Given the description of an element on the screen output the (x, y) to click on. 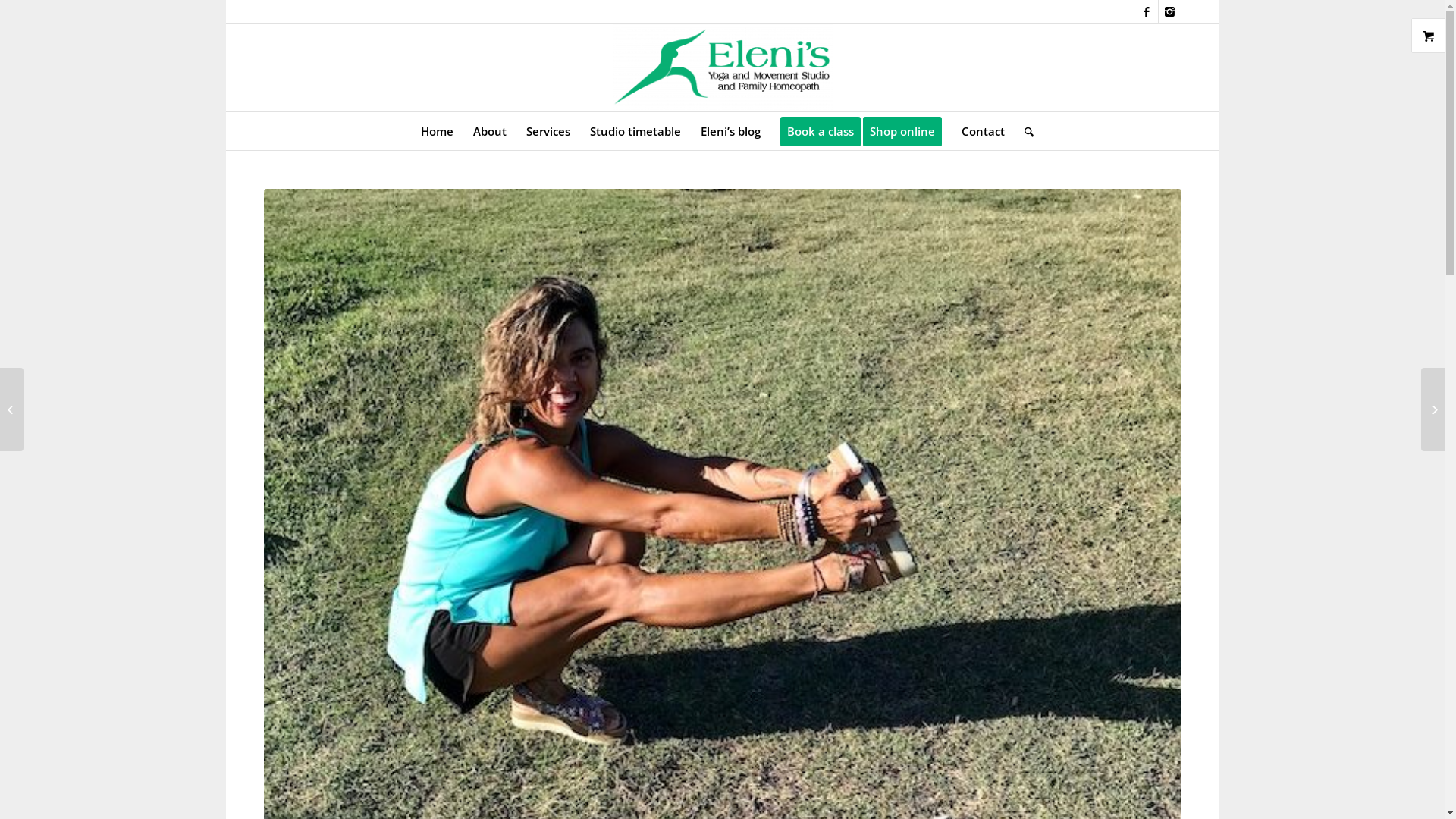
Book a class Element type: text (820, 131)
Shop online Element type: text (906, 131)
Instagram Element type: hover (1169, 11)
Contact Element type: text (982, 131)
Home Element type: text (437, 131)
About Element type: text (489, 131)
Studio timetable Element type: text (635, 131)
Services Element type: text (548, 131)
Facebook Element type: hover (1146, 11)
